Given the description of an element on the screen output the (x, y) to click on. 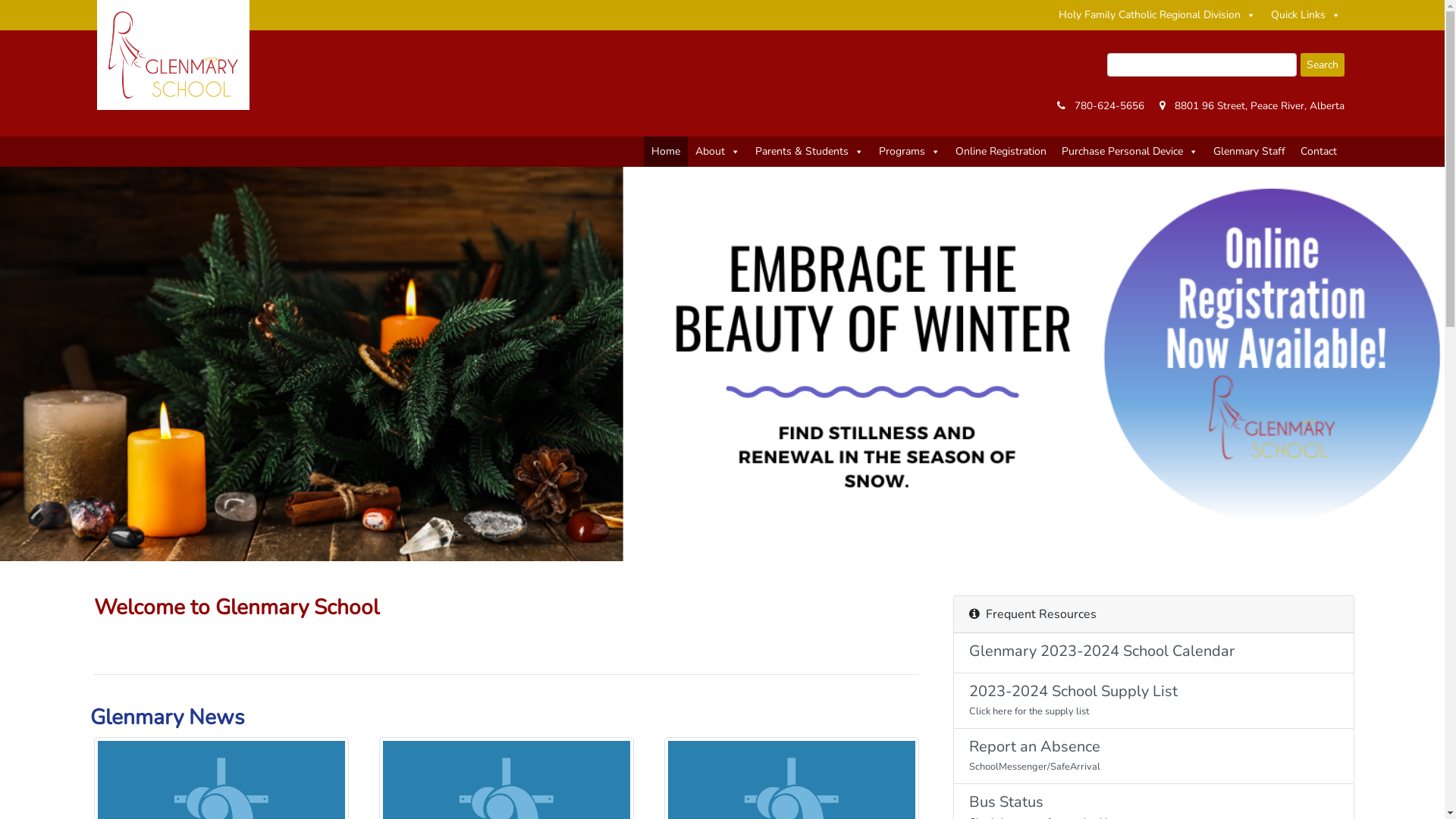
Holy Family Catholic Regional Division Element type: text (1157, 15)
Parents & Students Element type: text (809, 151)
Glenmary News Element type: text (167, 716)
Purchase Personal Device Element type: text (1129, 151)
Report an Absence
SchoolMessenger/SafeArrival Element type: text (1153, 756)
2023-2024 School Supply List
Click here for the supply list Element type: text (1153, 700)
8801 96 Street, Peace River, Alberta Element type: text (1258, 105)
Programs Element type: text (908, 151)
About Element type: text (716, 151)
Glenmary 2023-2024 School Calendar Element type: text (1153, 653)
Online Registration Element type: text (1000, 151)
Home Element type: text (665, 151)
Contact Element type: text (1317, 151)
Glenmary Staff Element type: text (1248, 151)
Quick Links Element type: text (1305, 15)
Search Element type: text (1321, 64)
